Given the description of an element on the screen output the (x, y) to click on. 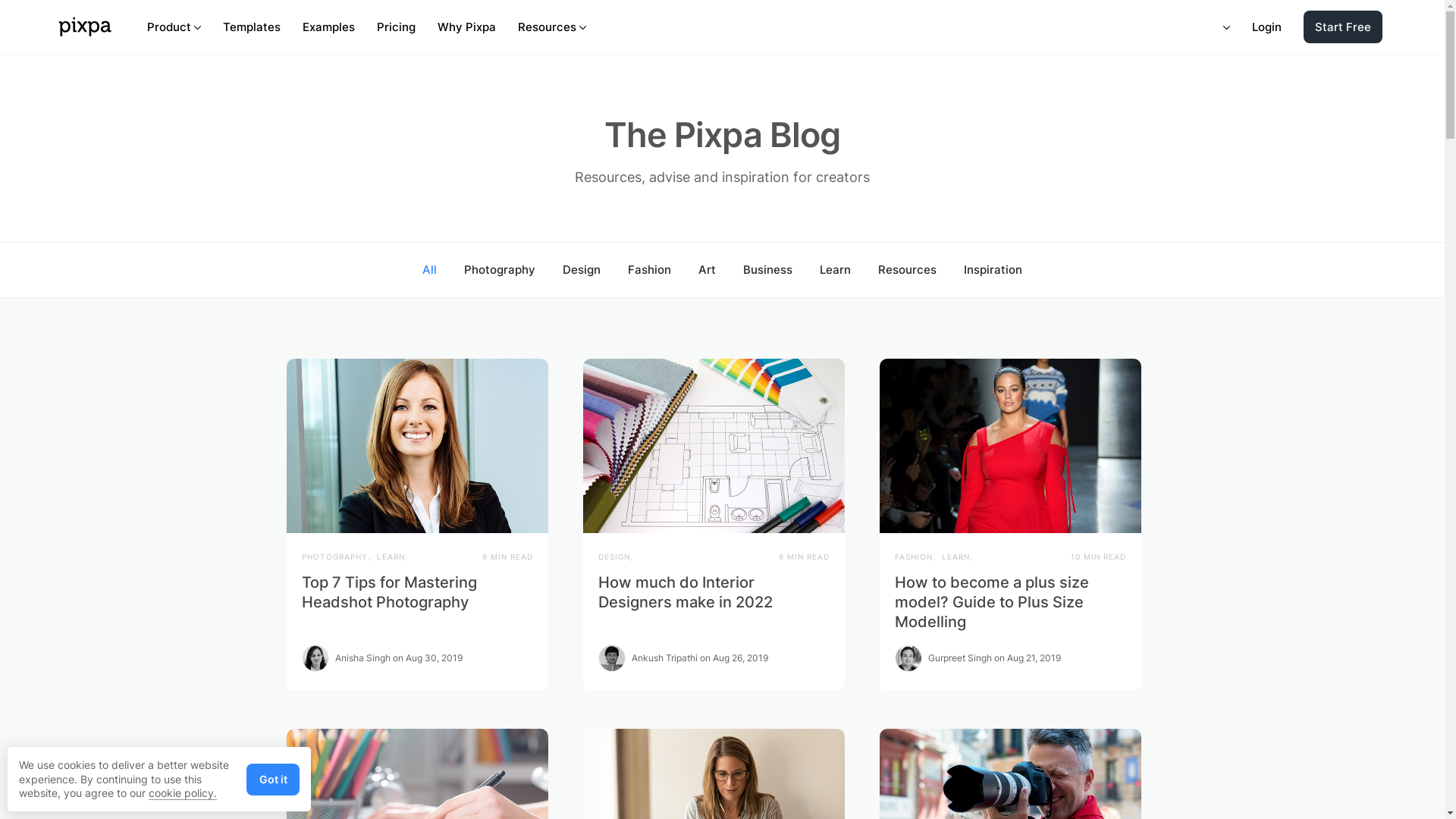
LEARN Element type: text (390, 556)
Art Element type: text (706, 270)
Templates Element type: text (251, 26)
Why Pixpa Element type: text (466, 26)
Login Element type: text (1266, 26)
Examples Element type: text (328, 26)
All Element type: text (429, 270)
PHOTOGRAPHY Element type: text (334, 556)
Photography Element type: text (499, 270)
Inspiration Element type: text (992, 270)
Pricing Element type: text (395, 26)
Got it Element type: text (272, 779)
Start Free Element type: text (1342, 26)
Product Element type: text (174, 26)
Resources Element type: text (551, 26)
Learn Element type: text (835, 270)
LEARN Element type: text (955, 556)
Top 7 Tips for Mastering Headshot Photography Element type: text (388, 592)
Fashion Element type: text (649, 270)
How much do Interior Designers make in 2022 Element type: text (684, 592)
FASHION Element type: text (913, 556)
Resources Element type: text (907, 270)
Business Element type: text (767, 270)
cookie policy. Element type: text (182, 793)
Design Element type: text (581, 270)
DESIGN Element type: text (613, 556)
